Given the description of an element on the screen output the (x, y) to click on. 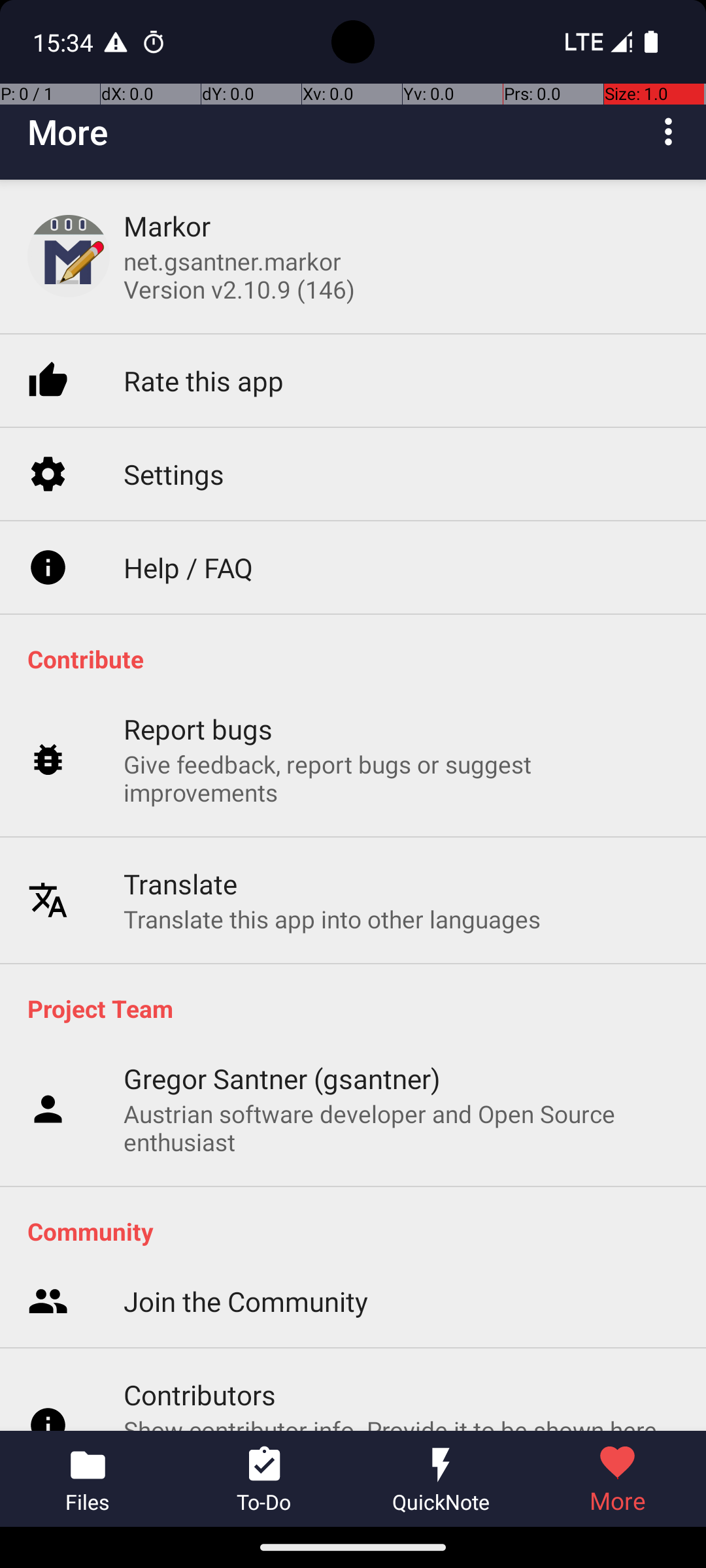
Show contributor info. Provide it to be shown here on an opt-in basis after contributing Element type: android.widget.TextView (400, 1410)
